Given the description of an element on the screen output the (x, y) to click on. 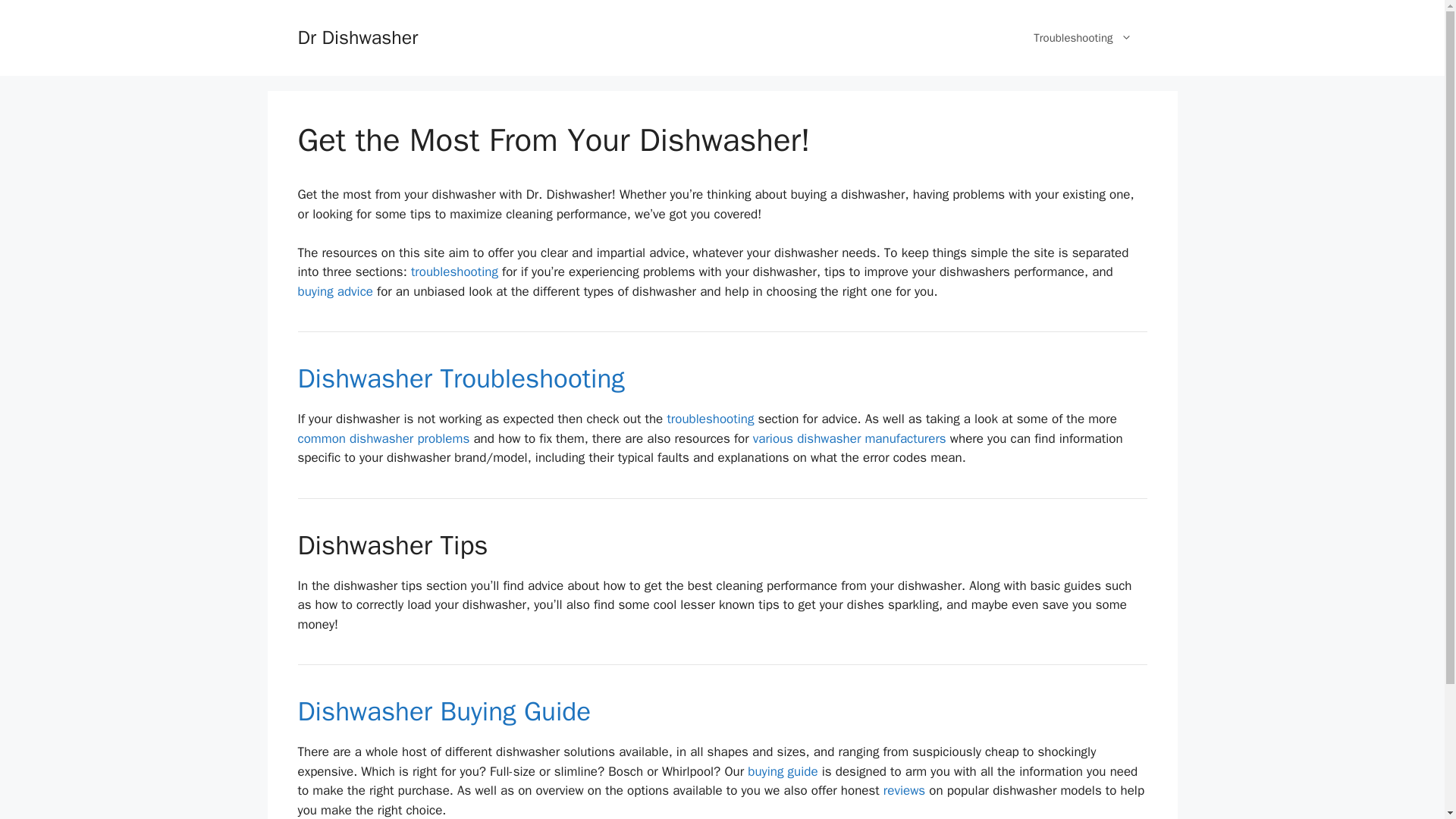
Reviews (903, 790)
Dishwasher Troubleshooting (460, 377)
reviews (903, 790)
Troubleshooting (1082, 37)
troubleshooting (453, 271)
Dishwasher Buying Guide (444, 711)
Dishwasher Troubleshooting (710, 418)
Buying Advice (334, 291)
Dishwasher Troubleshooting (453, 271)
Buying Advice (444, 711)
